Given the description of an element on the screen output the (x, y) to click on. 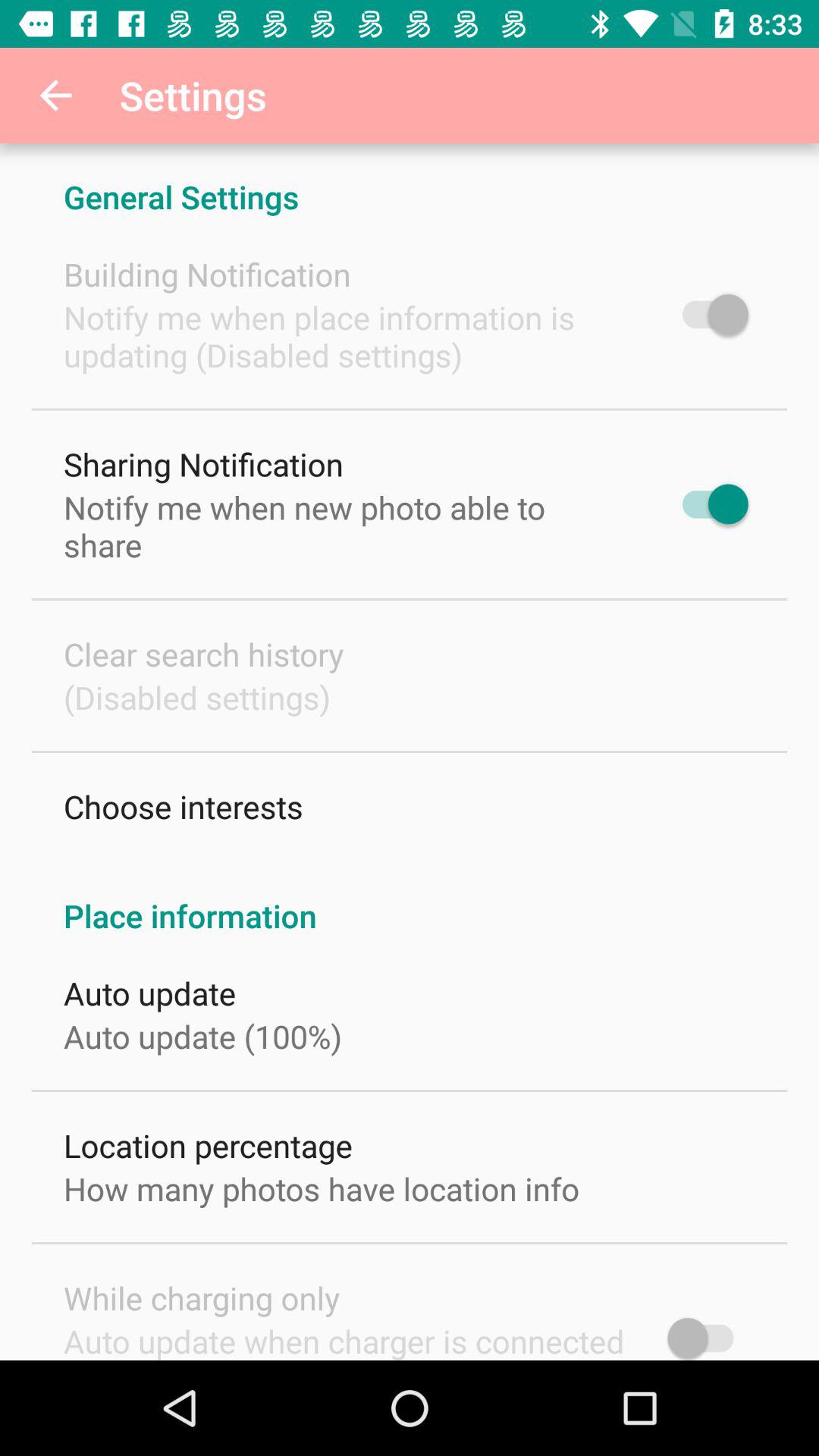
flip until the how many photos item (321, 1188)
